Given the description of an element on the screen output the (x, y) to click on. 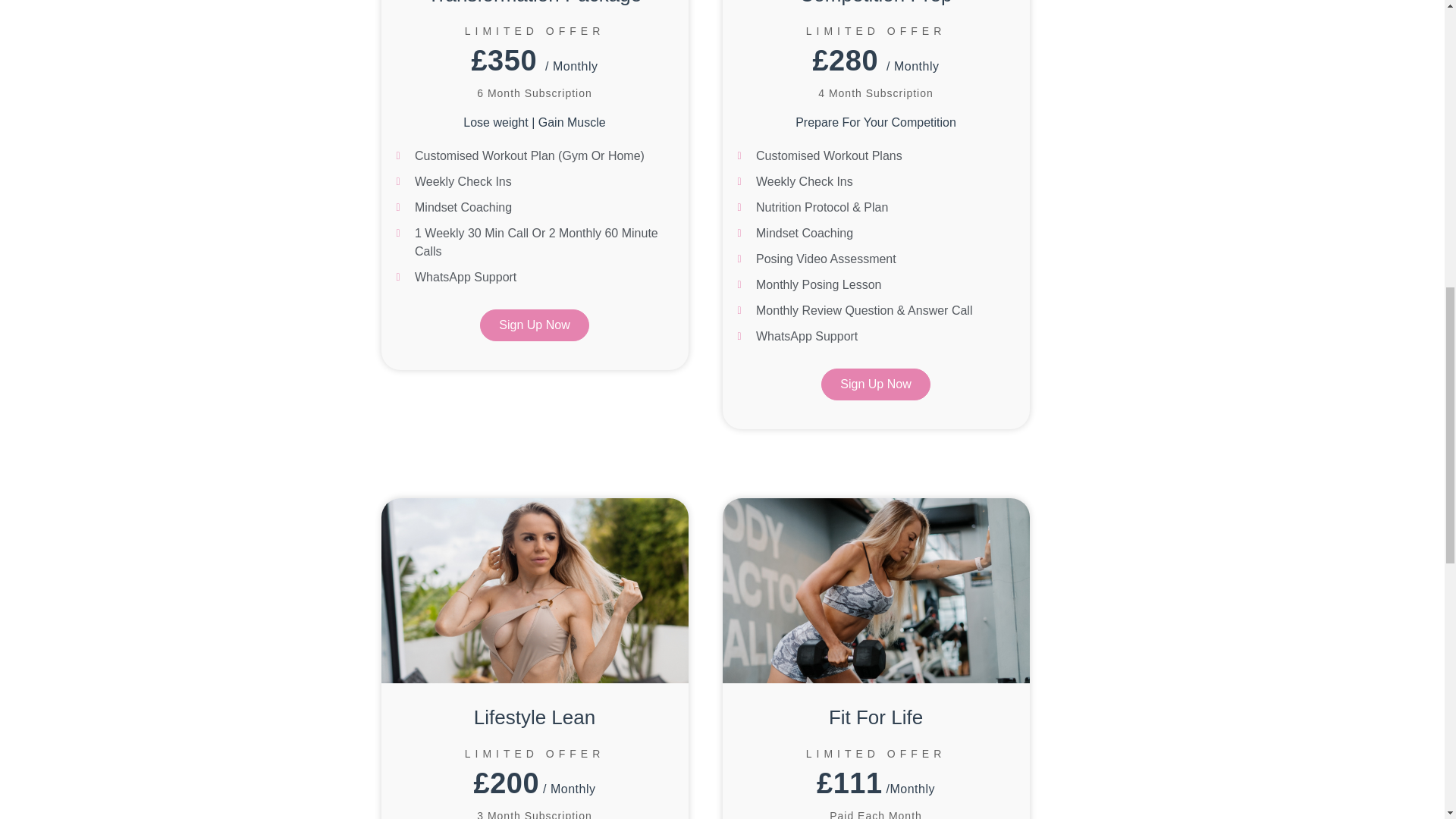
Sign Up Now (534, 325)
Sign Up Now (875, 384)
